Given the description of an element on the screen output the (x, y) to click on. 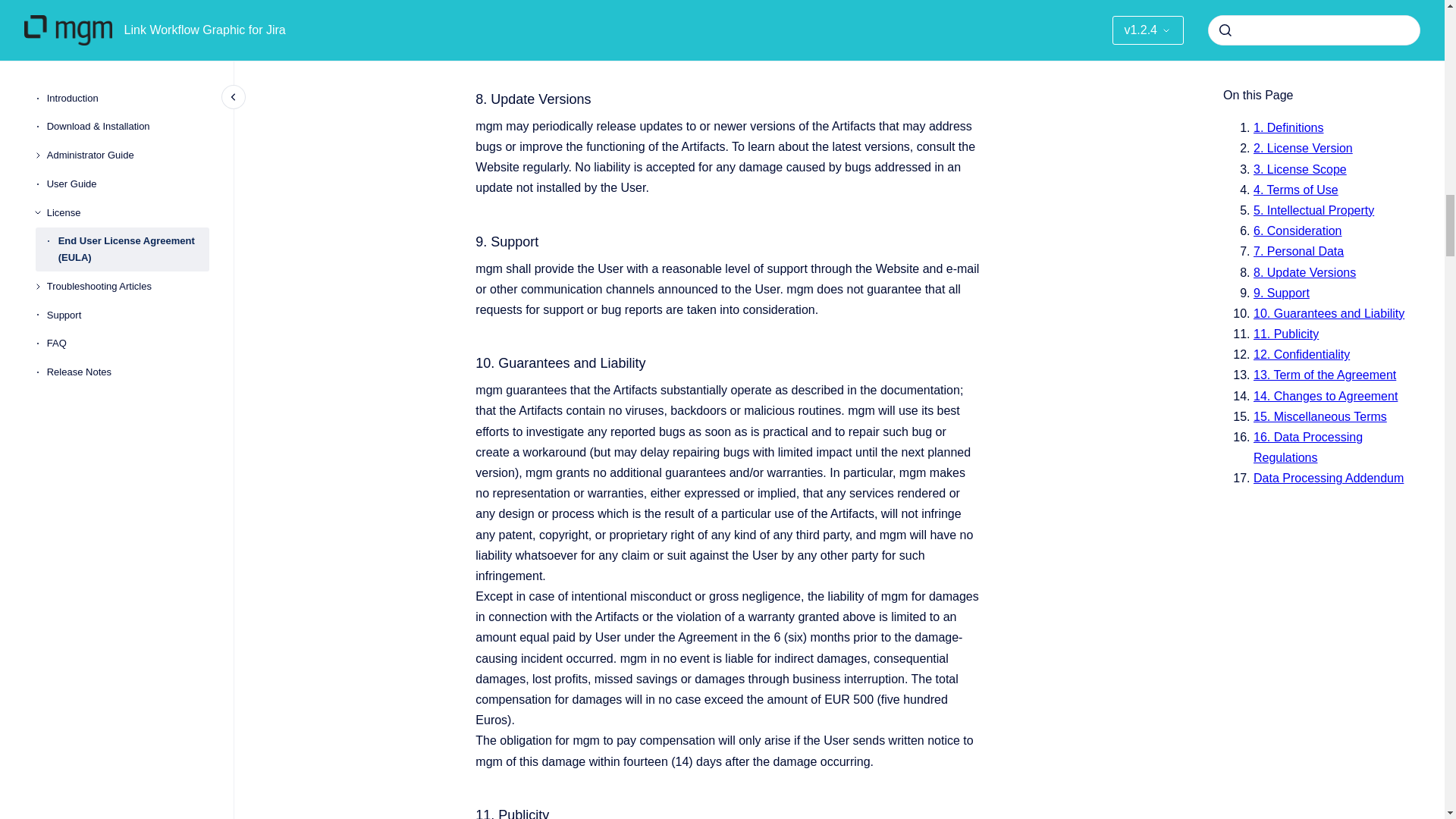
Copy to clipboard (468, 812)
